Given the description of an element on the screen output the (x, y) to click on. 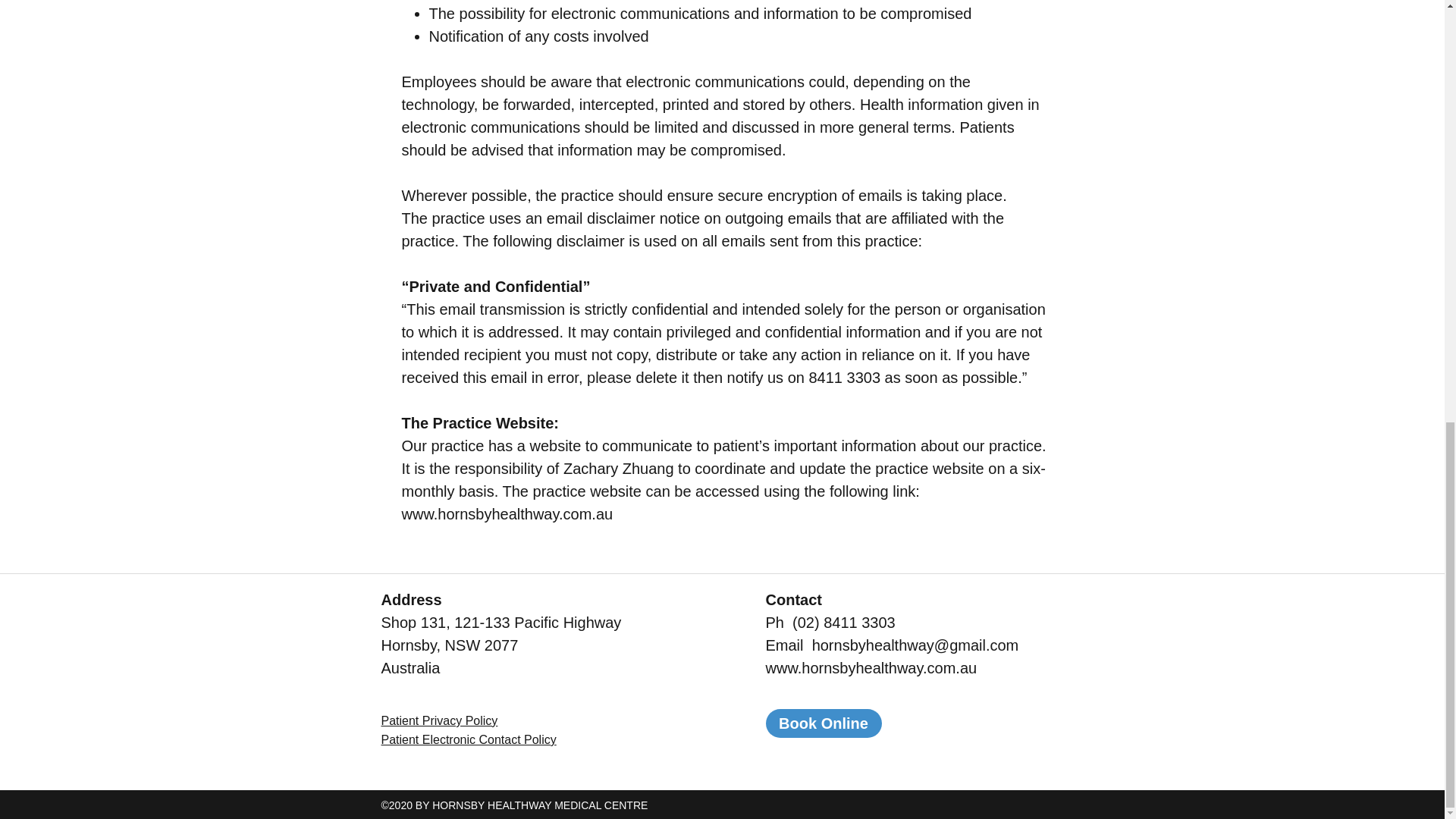
Patient Privacy Policy (438, 720)
www.hornsbyhealthway.com.au (870, 668)
Book Online (823, 723)
www.hornsbyhealthway.com.au (506, 514)
Patient Electronic Contact Policy (468, 739)
